Given the description of an element on the screen output the (x, y) to click on. 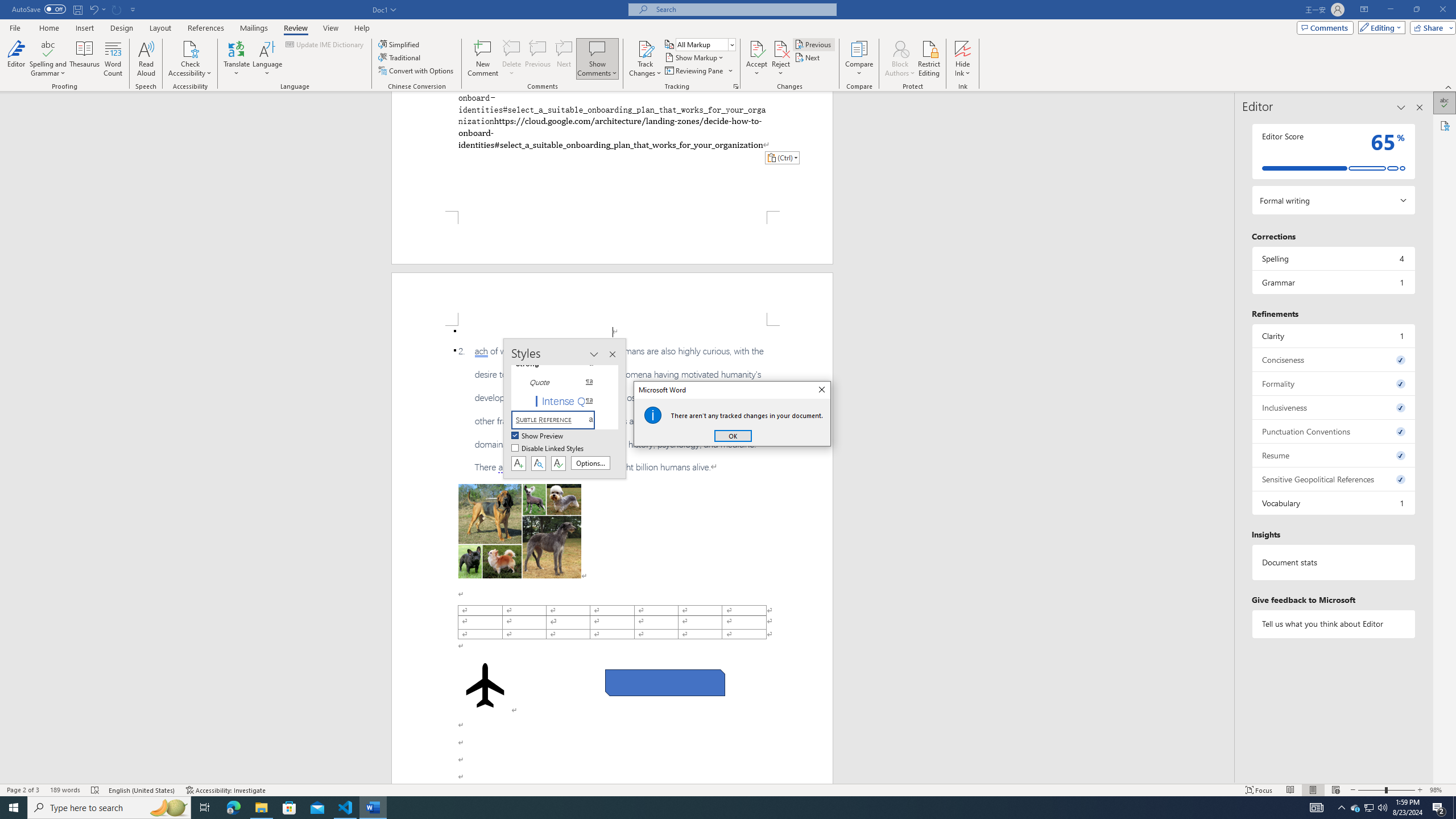
Reviewing Pane (694, 69)
Strong (559, 363)
Page 1 content (611, 151)
Convert with Options... (417, 69)
Clarity, 1 issue. Press space or enter to review items. (1333, 335)
Hide Ink (962, 58)
Microsoft search (742, 9)
Start (13, 807)
AutomationID: 4105 (1316, 807)
Spelling and Grammar (48, 48)
Accept (756, 58)
Conciseness, 0 issues. Press space or enter to review items. (1333, 359)
